Given the description of an element on the screen output the (x, y) to click on. 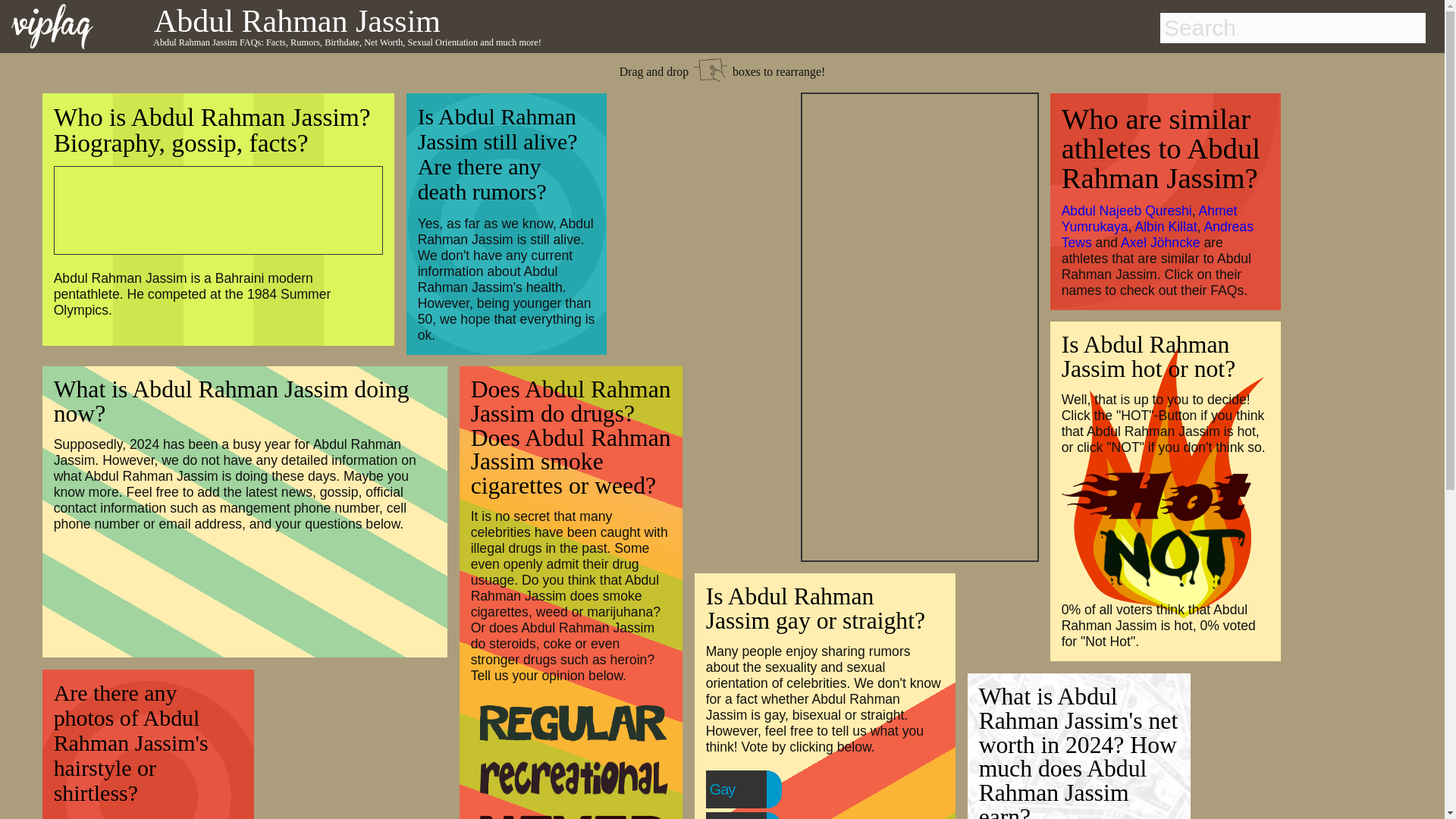
Straight (763, 816)
Gay (753, 789)
Andreas Tews (1157, 234)
Advertisement (209, 208)
Ahmet Yumrukaya (1149, 218)
Albin Killat (1165, 226)
Abdul Najeeb Qureshi (1126, 210)
